Given the description of an element on the screen output the (x, y) to click on. 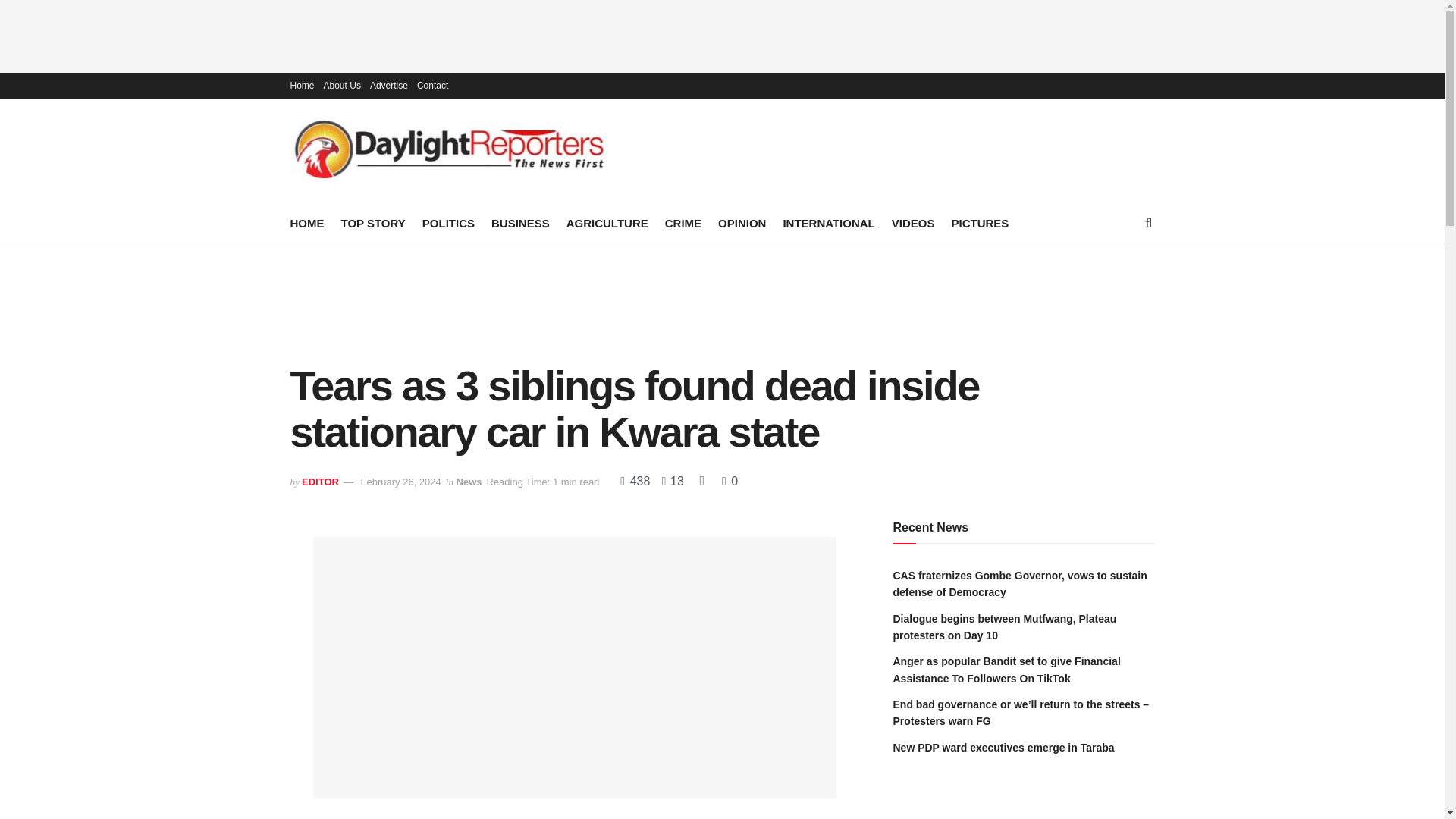
Advertisement (722, 300)
438 (636, 481)
PICTURES (979, 223)
INTERNATIONAL (829, 223)
AGRICULTURE (606, 223)
OPINION (741, 223)
Home (301, 85)
HOME (306, 223)
13 (668, 481)
News (469, 481)
